Given the description of an element on the screen output the (x, y) to click on. 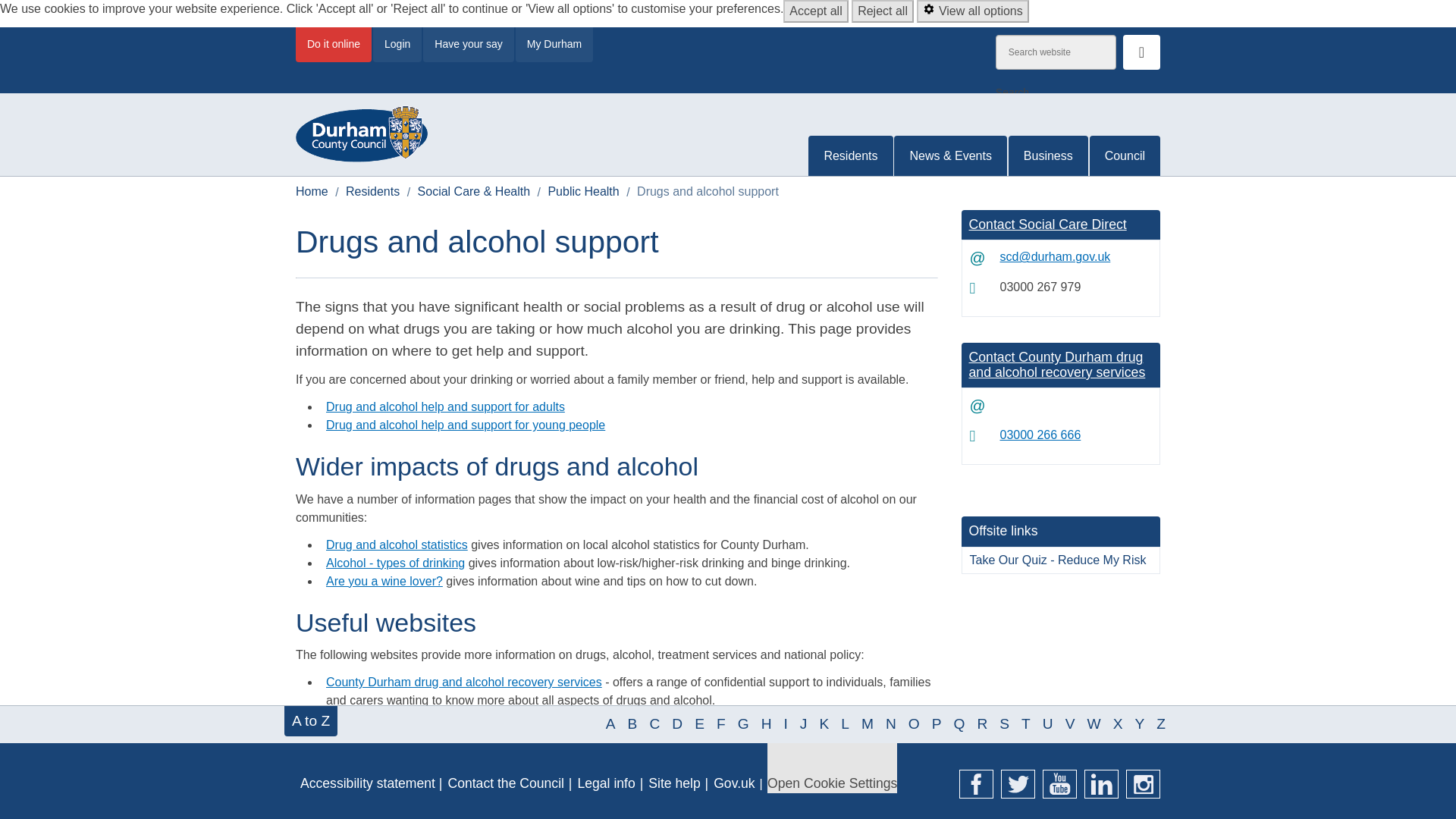
Have your say (468, 44)
Letter B (632, 723)
NHS Drug addiction: getting help (414, 754)
Letter C (654, 723)
Talk to Frank: Drugs A-Z (391, 790)
My Durham (553, 44)
search button (1141, 52)
Letter D (676, 723)
Take Our Quiz - Reduce My Risk (1059, 560)
Public Health (582, 191)
View all options (972, 11)
Business (1048, 155)
Home (312, 191)
Login (397, 44)
Drink Coach - (359, 717)
